Given the description of an element on the screen output the (x, y) to click on. 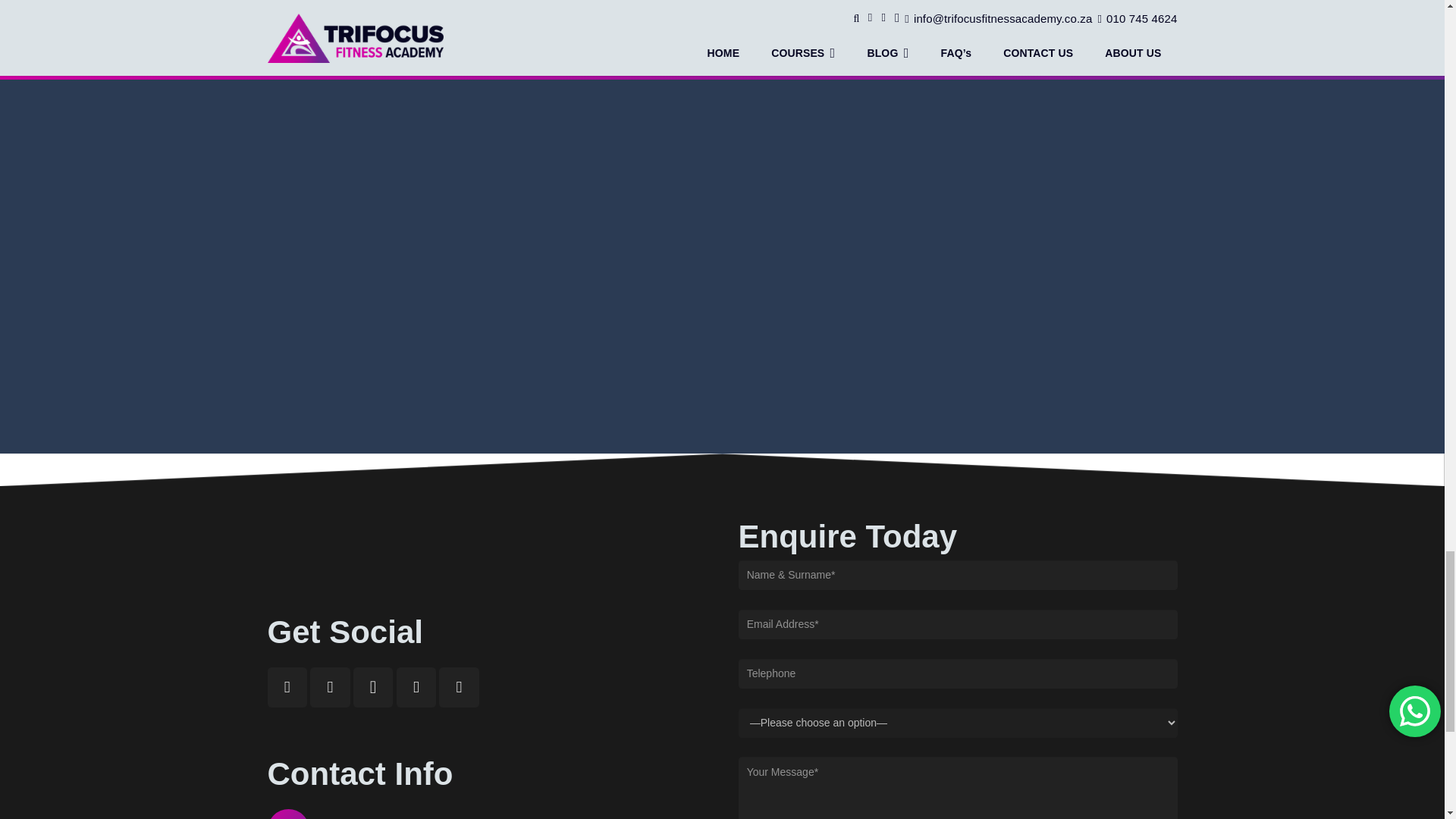
Facebook (286, 687)
Calendly (459, 687)
YouTube (330, 687)
Instagram (373, 687)
WhatsApp (416, 687)
